Given the description of an element on the screen output the (x, y) to click on. 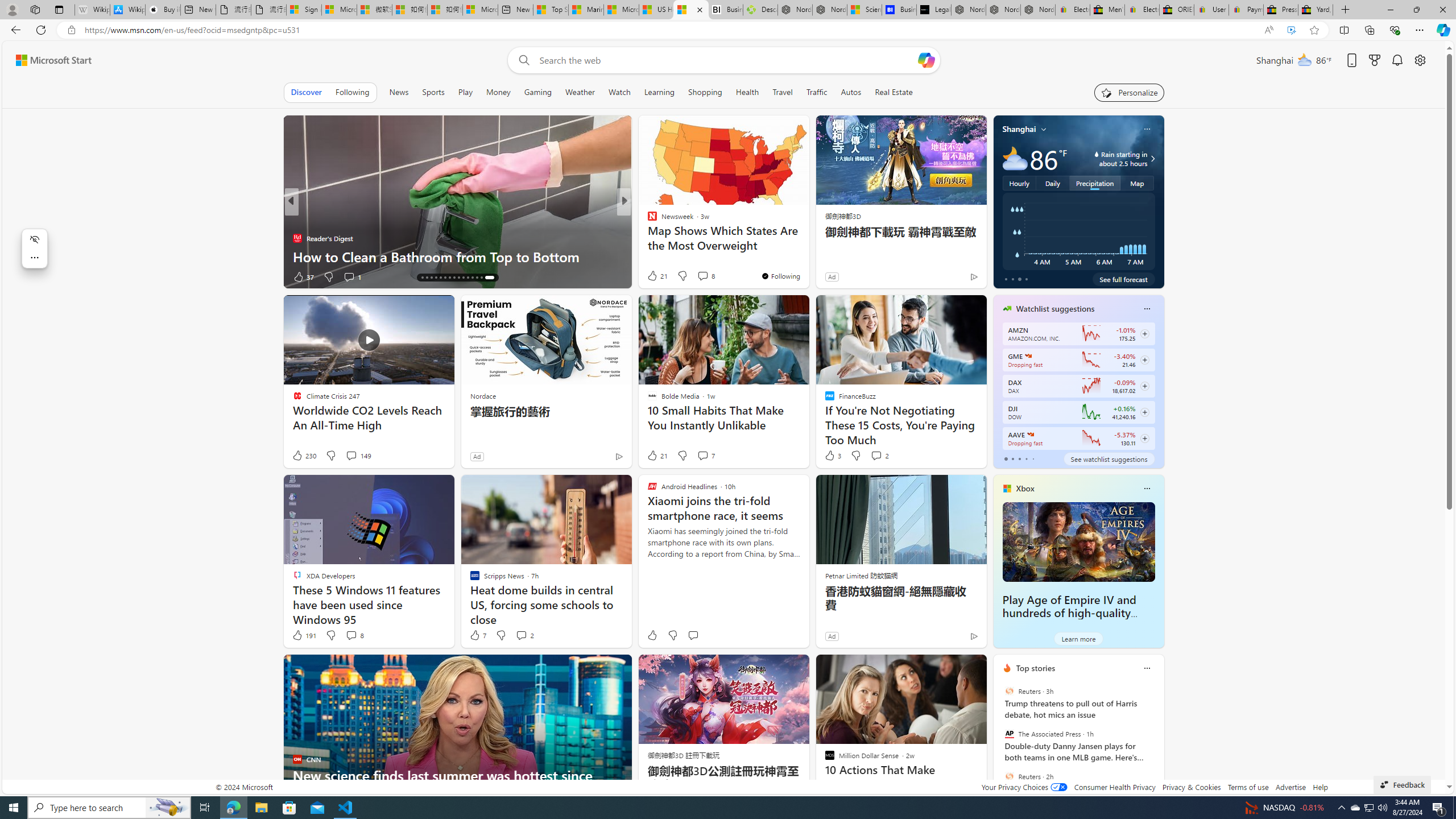
View comments 7 Comment (705, 455)
tab-1 (1012, 458)
Weather (579, 92)
Travel (782, 92)
View comments 7 Comment (703, 455)
4 AM 5 AM 6 AM 7 AM (1077, 231)
Mini menu on text selection (34, 255)
Consumer Health Privacy (1115, 786)
AutomationID: tab-21 (451, 277)
191 Like (303, 634)
